Given the description of an element on the screen output the (x, y) to click on. 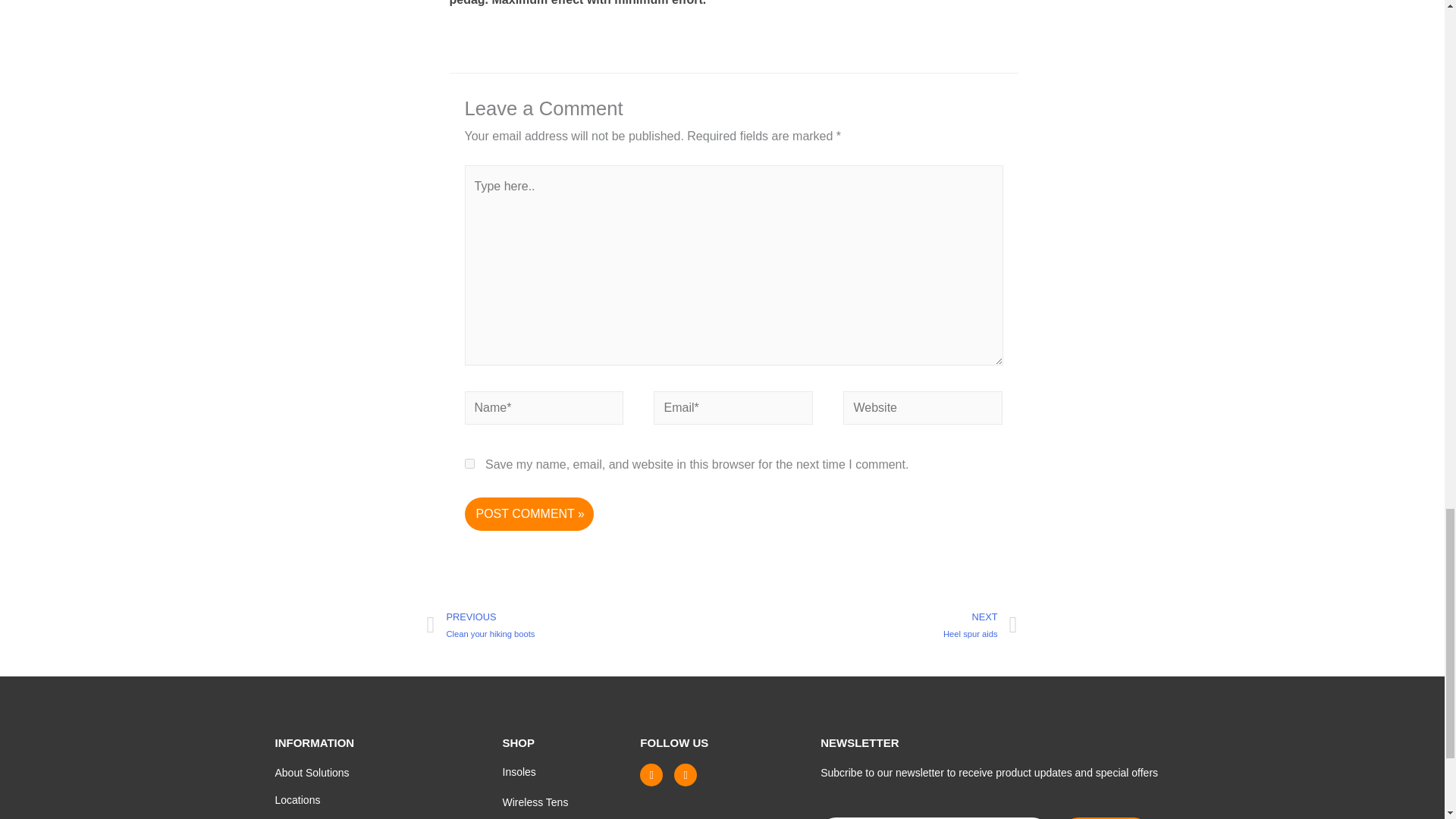
yes (469, 463)
